Given the description of an element on the screen output the (x, y) to click on. 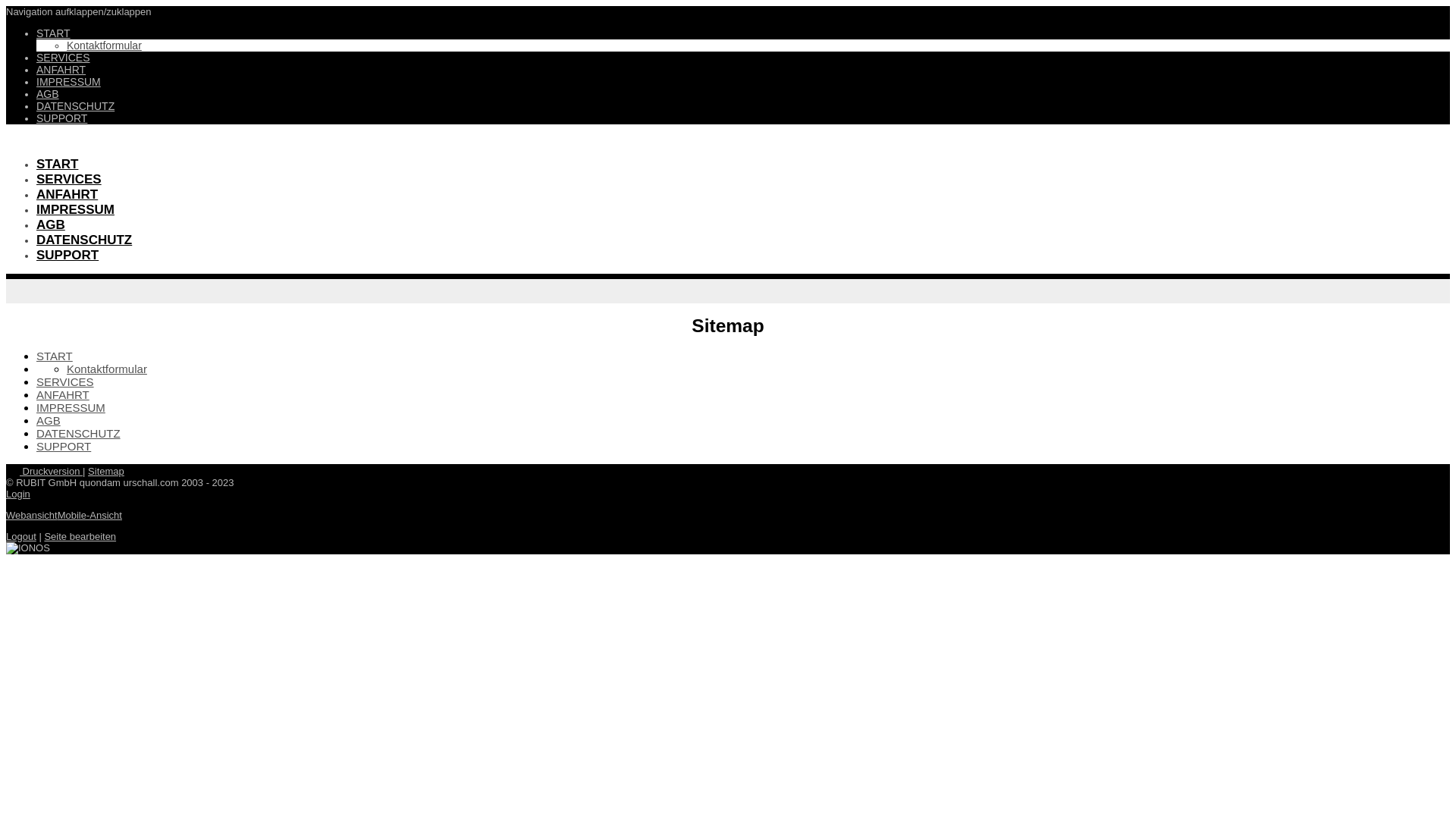
Druckversion Element type: text (44, 470)
IMPRESSUM Element type: text (68, 81)
Login Element type: text (18, 493)
IONOS Element type: hover (28, 548)
Logout Element type: text (21, 536)
Sitemap Element type: text (105, 470)
Kontaktformular Element type: text (103, 45)
ANFAHRT Element type: text (66, 194)
START Element type: text (53, 33)
Webansicht Element type: text (31, 514)
SERVICES Element type: text (68, 179)
ANFAHRT Element type: text (62, 394)
START Element type: text (54, 355)
SERVICES Element type: text (63, 57)
SUPPORT Element type: text (67, 254)
Kontaktformular Element type: text (106, 368)
IMPRESSUM Element type: text (75, 209)
SUPPORT Element type: text (61, 118)
START Element type: text (57, 163)
Navigation aufklappen/zuklappen Element type: text (78, 11)
SUPPORT Element type: text (63, 445)
SERVICES Element type: text (65, 381)
DATENSCHUTZ Element type: text (83, 239)
AGB Element type: text (50, 224)
DATENSCHUTZ Element type: text (78, 432)
IMPRESSUM Element type: text (70, 407)
ANFAHRT Element type: text (60, 69)
Mobile-Ansicht Element type: text (89, 514)
DATENSCHUTZ Element type: text (75, 106)
AGB Element type: text (47, 93)
Seite bearbeiten Element type: text (79, 536)
AGB Element type: text (48, 420)
